Given the description of an element on the screen output the (x, y) to click on. 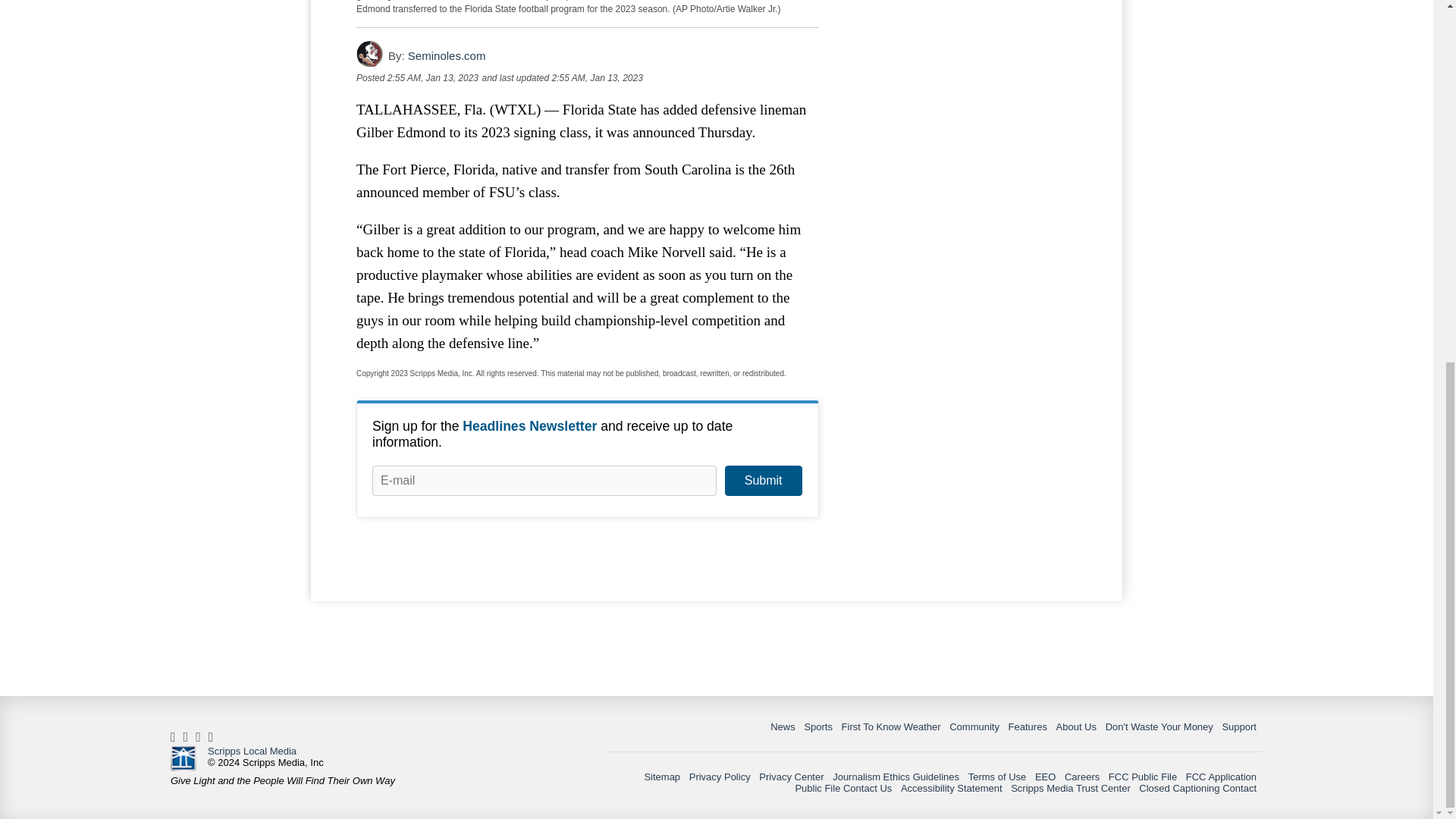
Submit (763, 481)
